Given the description of an element on the screen output the (x, y) to click on. 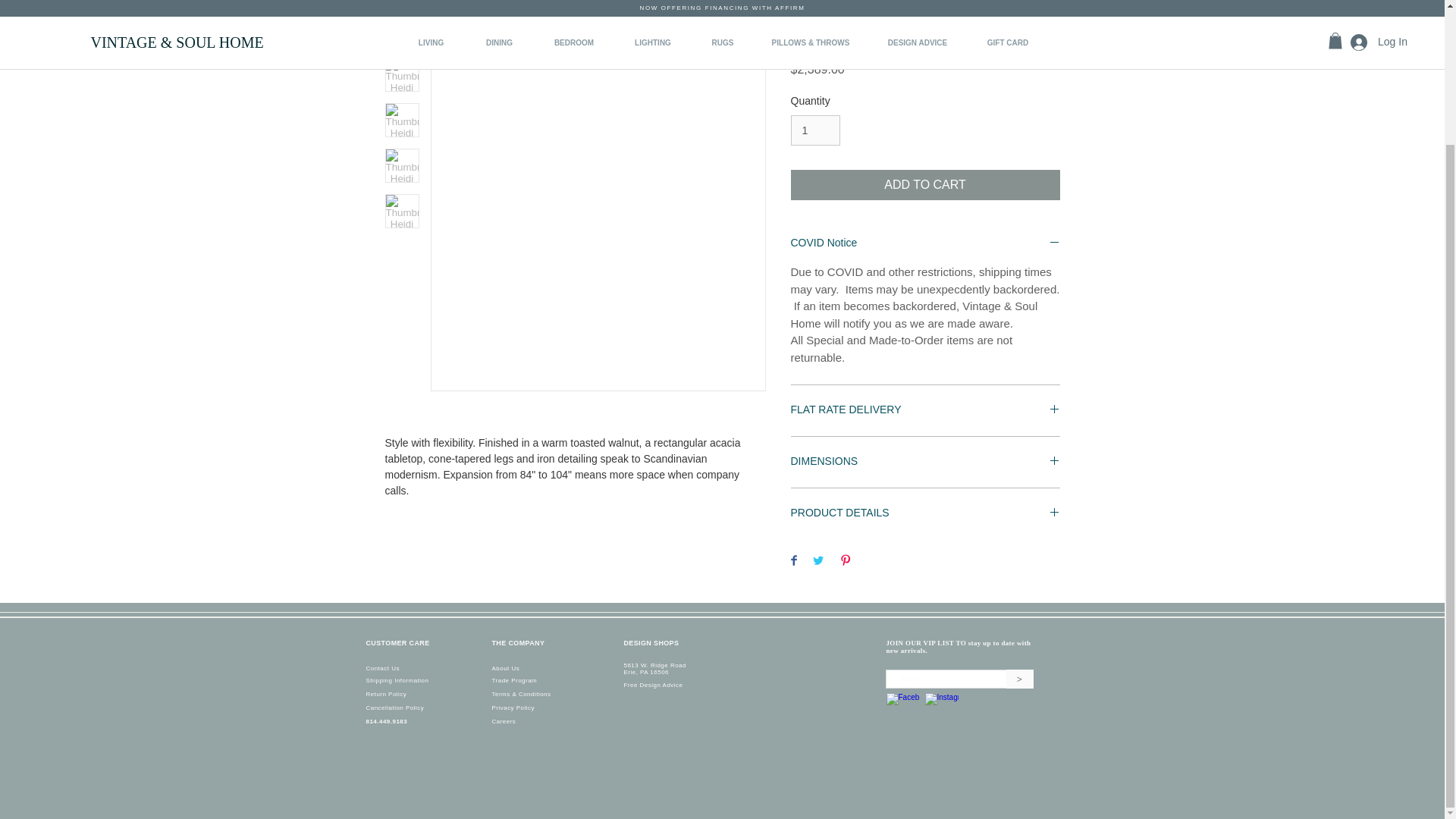
PRODUCT DETAILS (924, 513)
ADD TO CART (924, 184)
DIMENSIONS (924, 462)
FLAT RATE DELIVERY (924, 410)
1 (815, 130)
COVID Notice (924, 243)
